Given the description of an element on the screen output the (x, y) to click on. 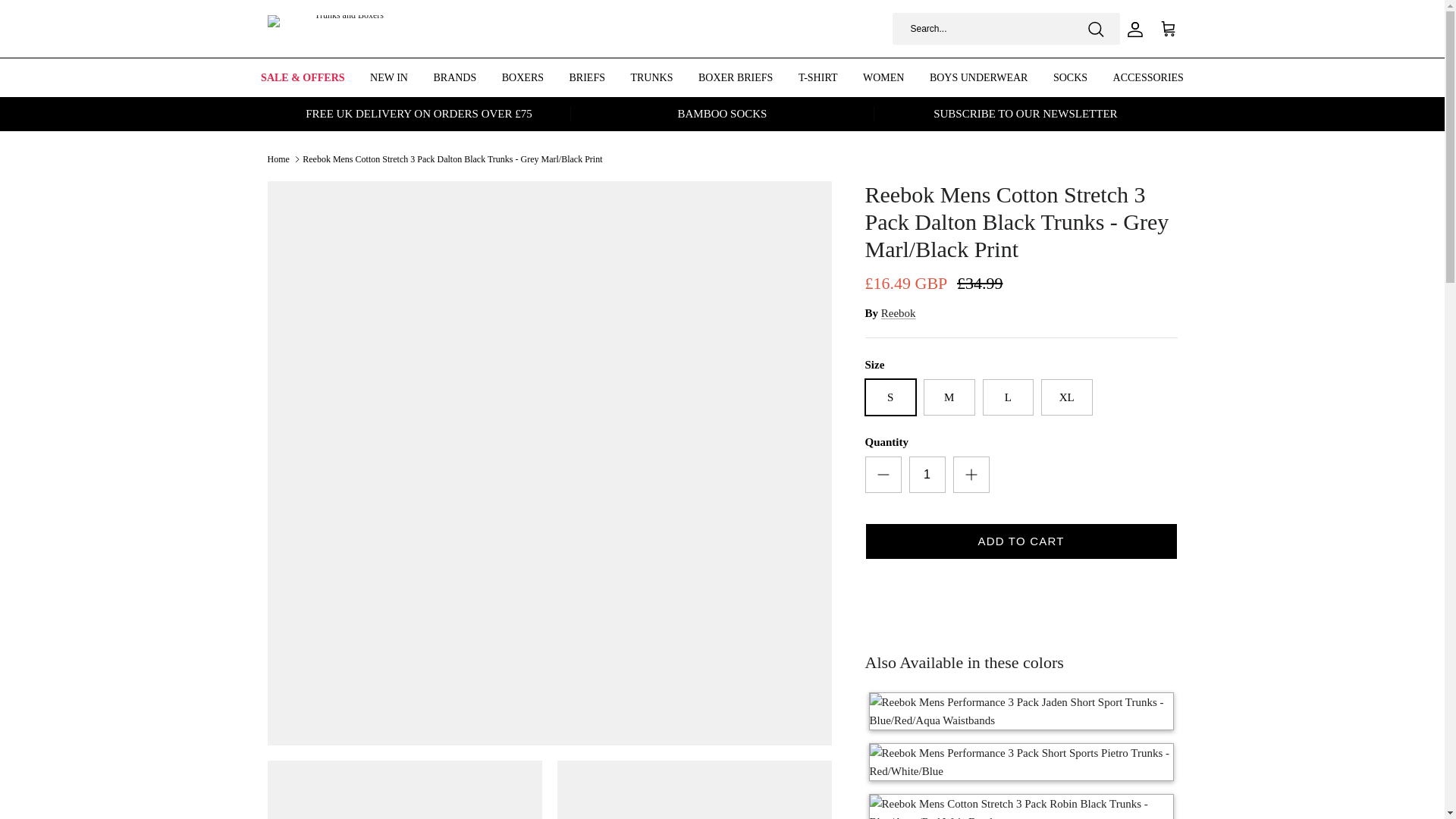
1 (926, 474)
BRANDS (454, 77)
Plus (969, 475)
Trunks and Boxers (342, 28)
NEW IN (388, 77)
Account (1130, 27)
Minus (882, 475)
